Given the description of an element on the screen output the (x, y) to click on. 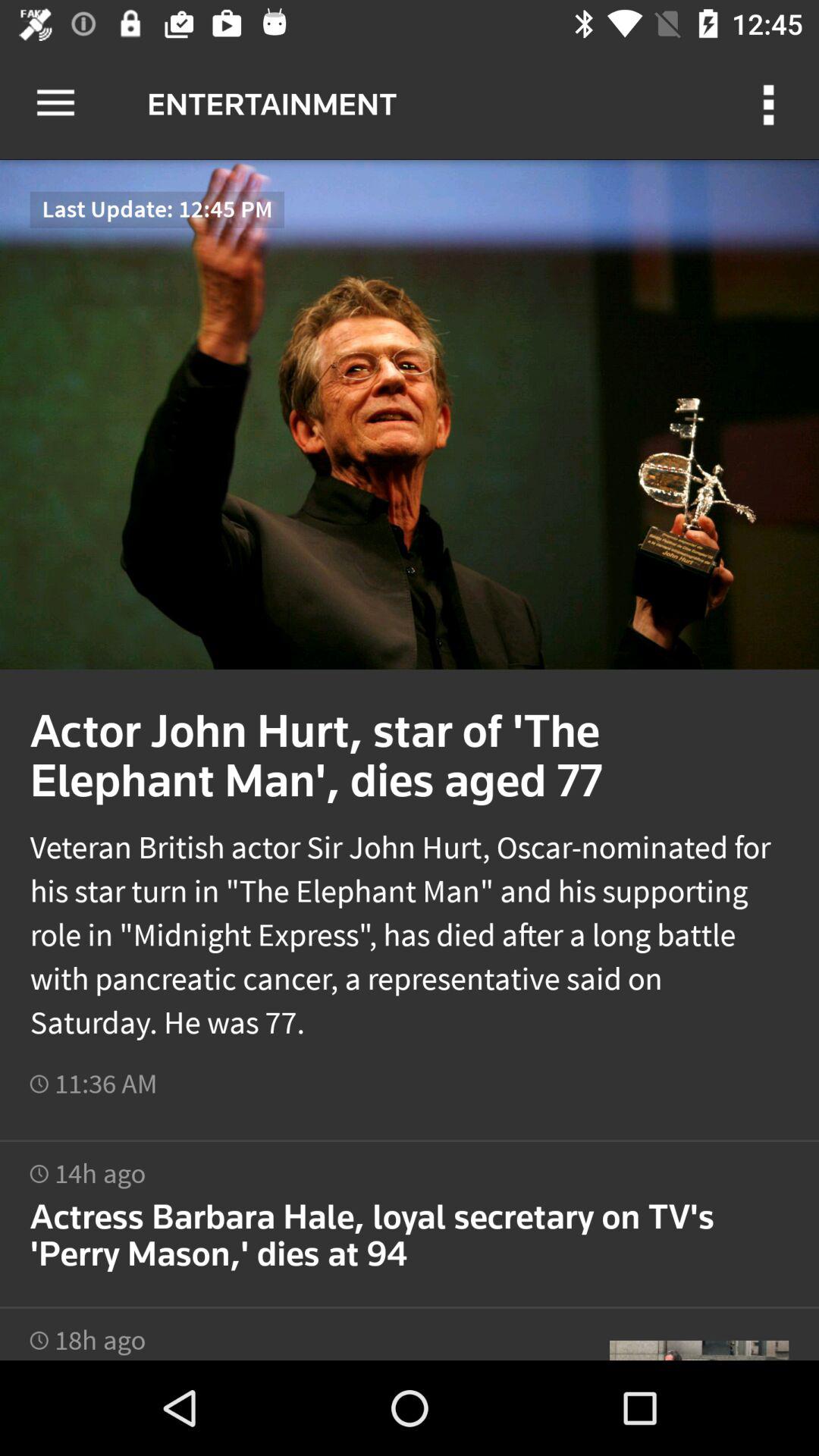
select new article (409, 1215)
